Given the description of an element on the screen output the (x, y) to click on. 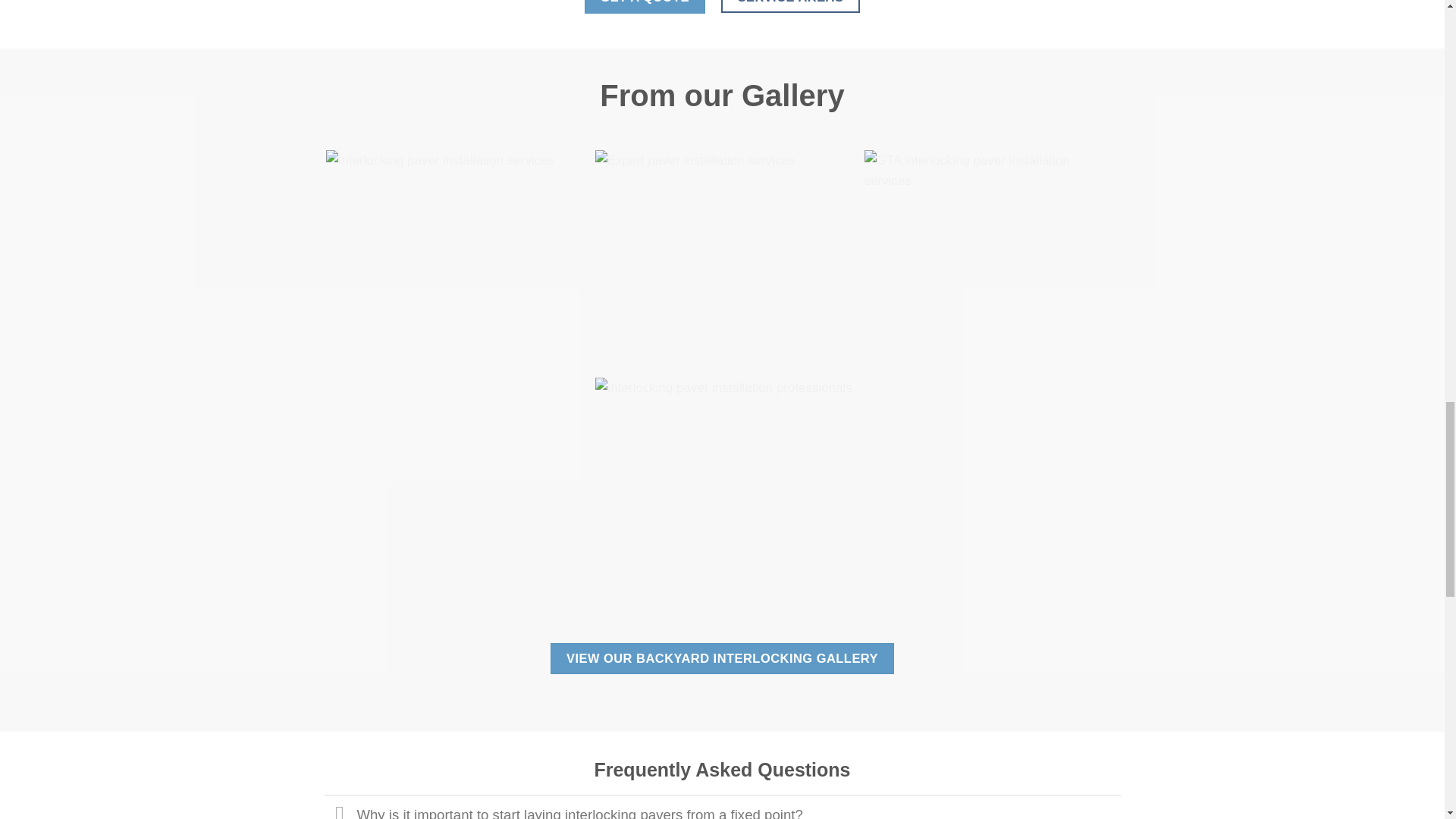
VIEW OUR BACKYARD INTERLOCKING GALLERY (721, 658)
GET A QUOTE (644, 6)
SERVICE AREAS (790, 6)
